Given the description of an element on the screen output the (x, y) to click on. 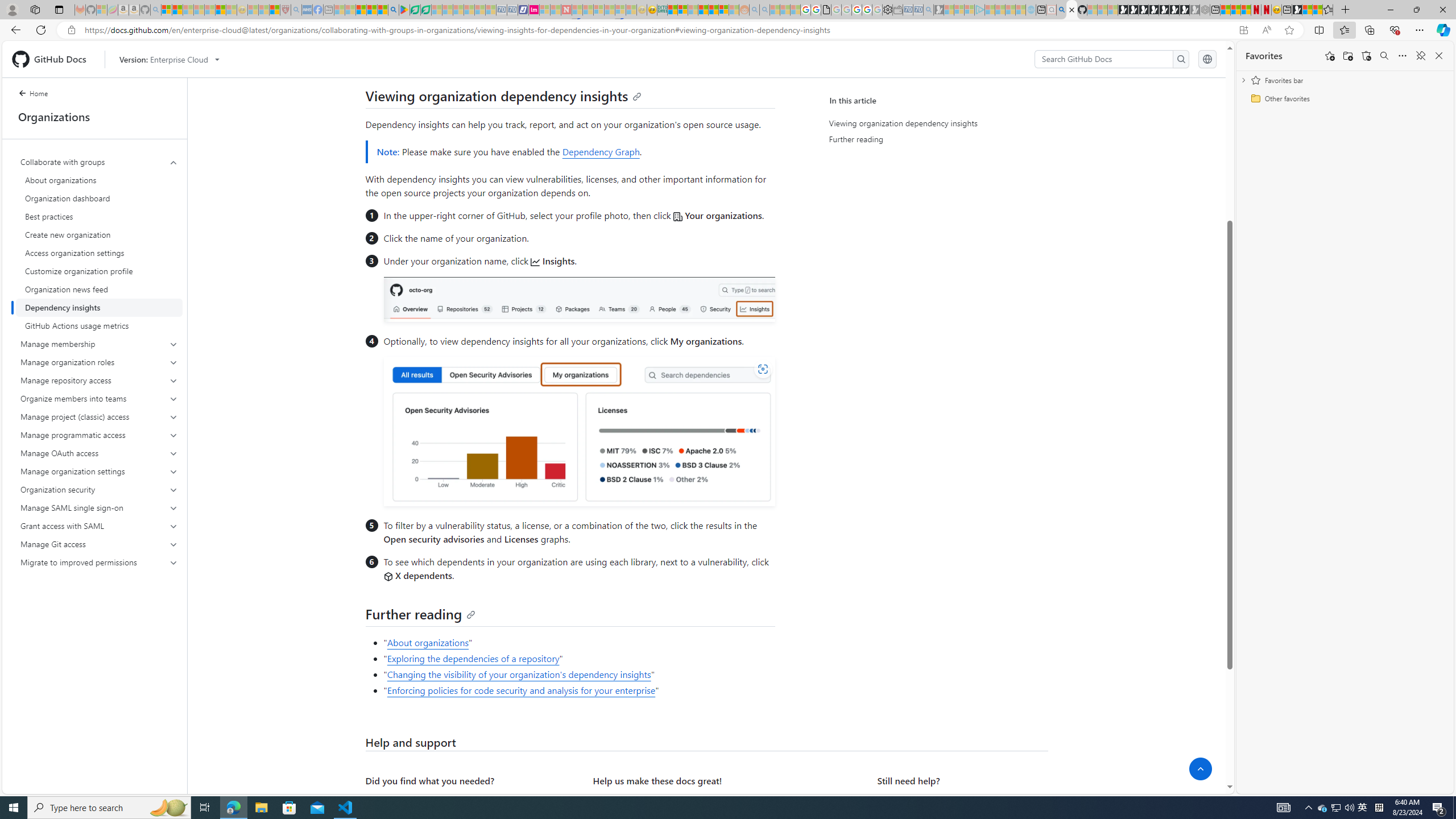
Manage project (classic) access (99, 416)
Organization security (99, 489)
About organizations (427, 642)
